Given the description of an element on the screen output the (x, y) to click on. 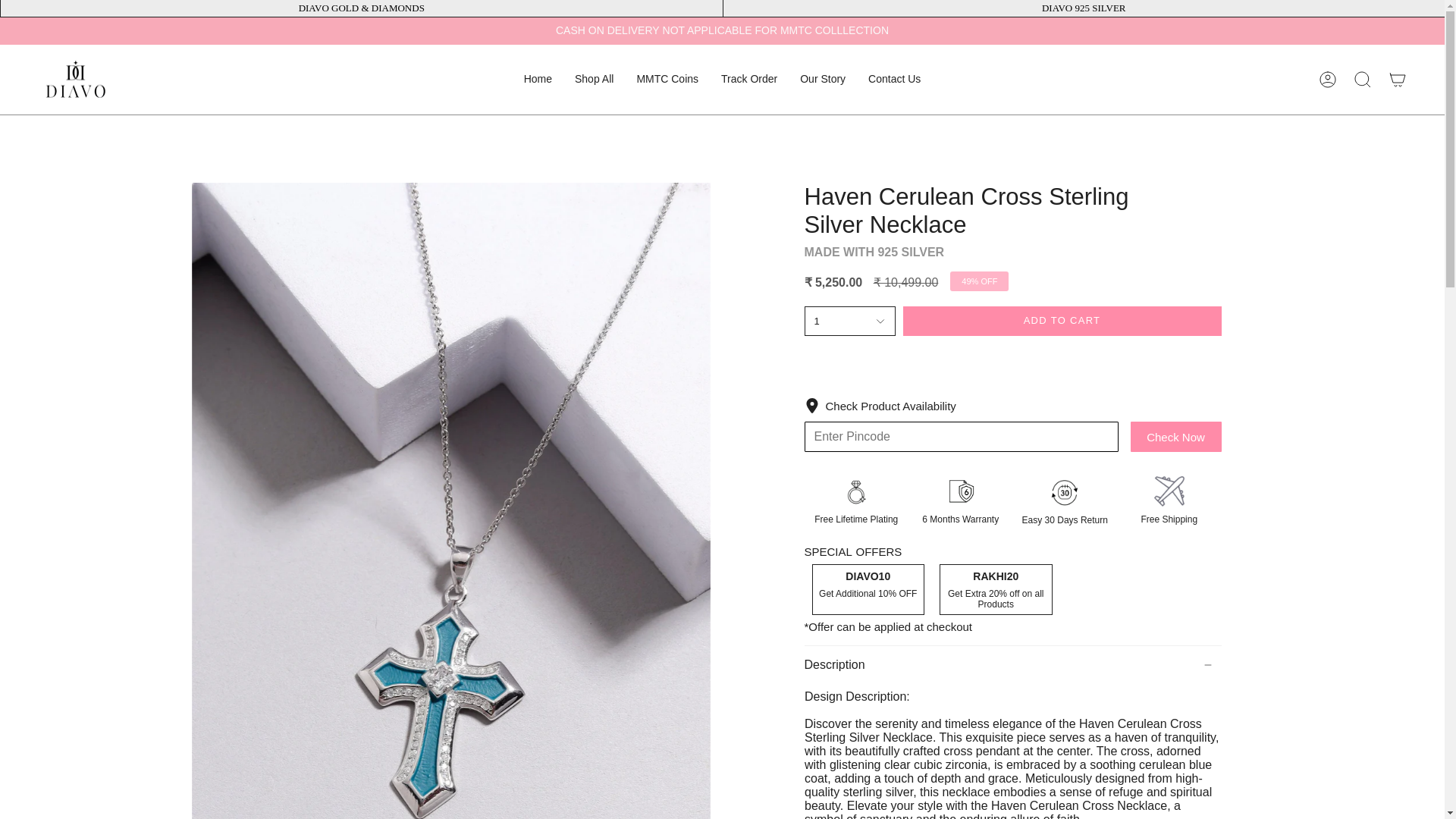
My Account (1327, 79)
Track Order (749, 79)
MMTC Coins (667, 79)
Home (537, 79)
Cart (1397, 79)
Search (1362, 79)
Shop All (593, 79)
